Given the description of an element on the screen output the (x, y) to click on. 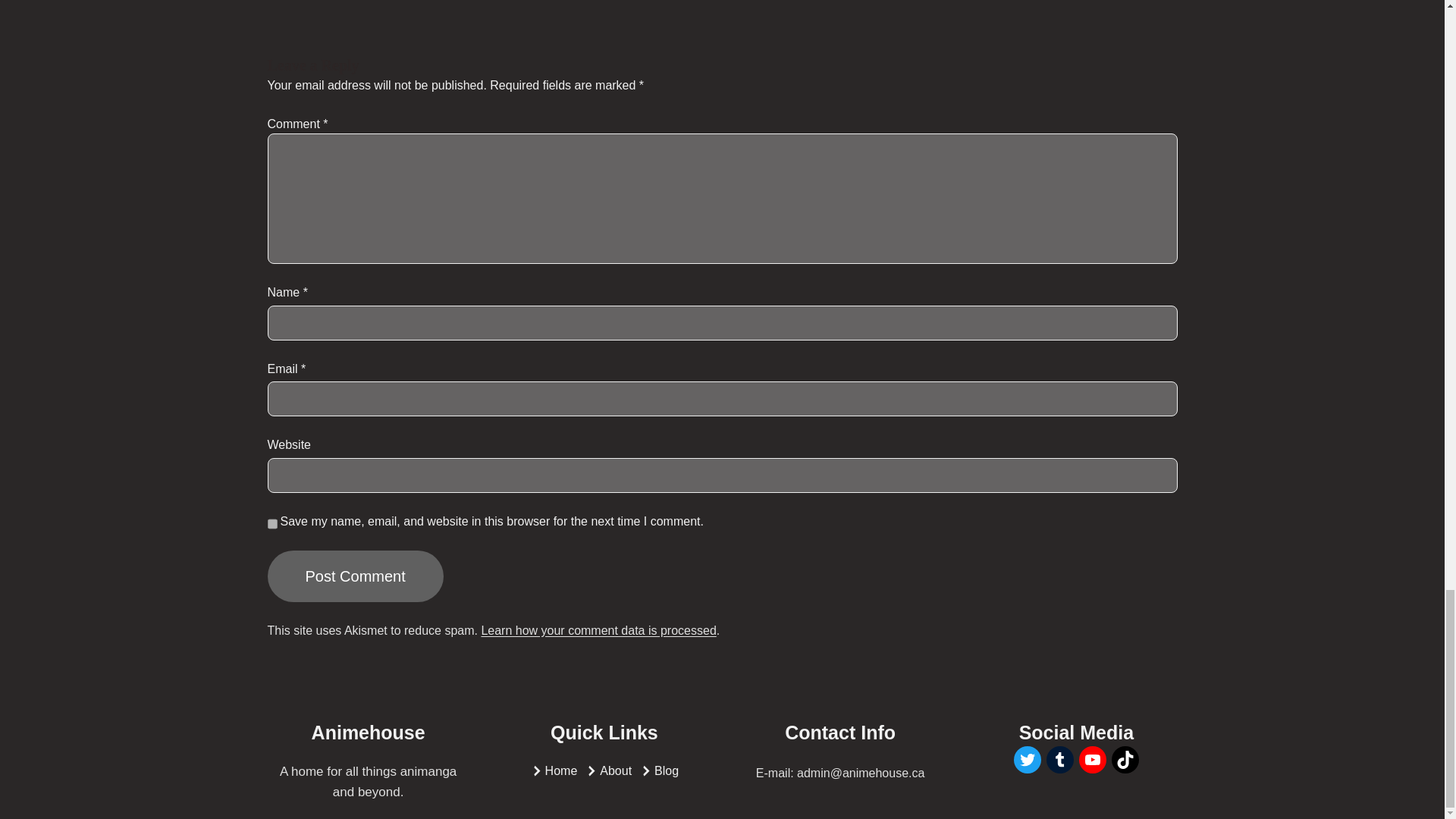
Home (561, 771)
About (615, 771)
Learn how your comment data is processed (598, 630)
Blog (665, 771)
Post Comment (354, 575)
Post Comment (354, 575)
YouTube (1092, 759)
Tumblr (1060, 759)
Twitter (1027, 759)
yes (271, 523)
TikTok (1125, 759)
